Given the description of an element on the screen output the (x, y) to click on. 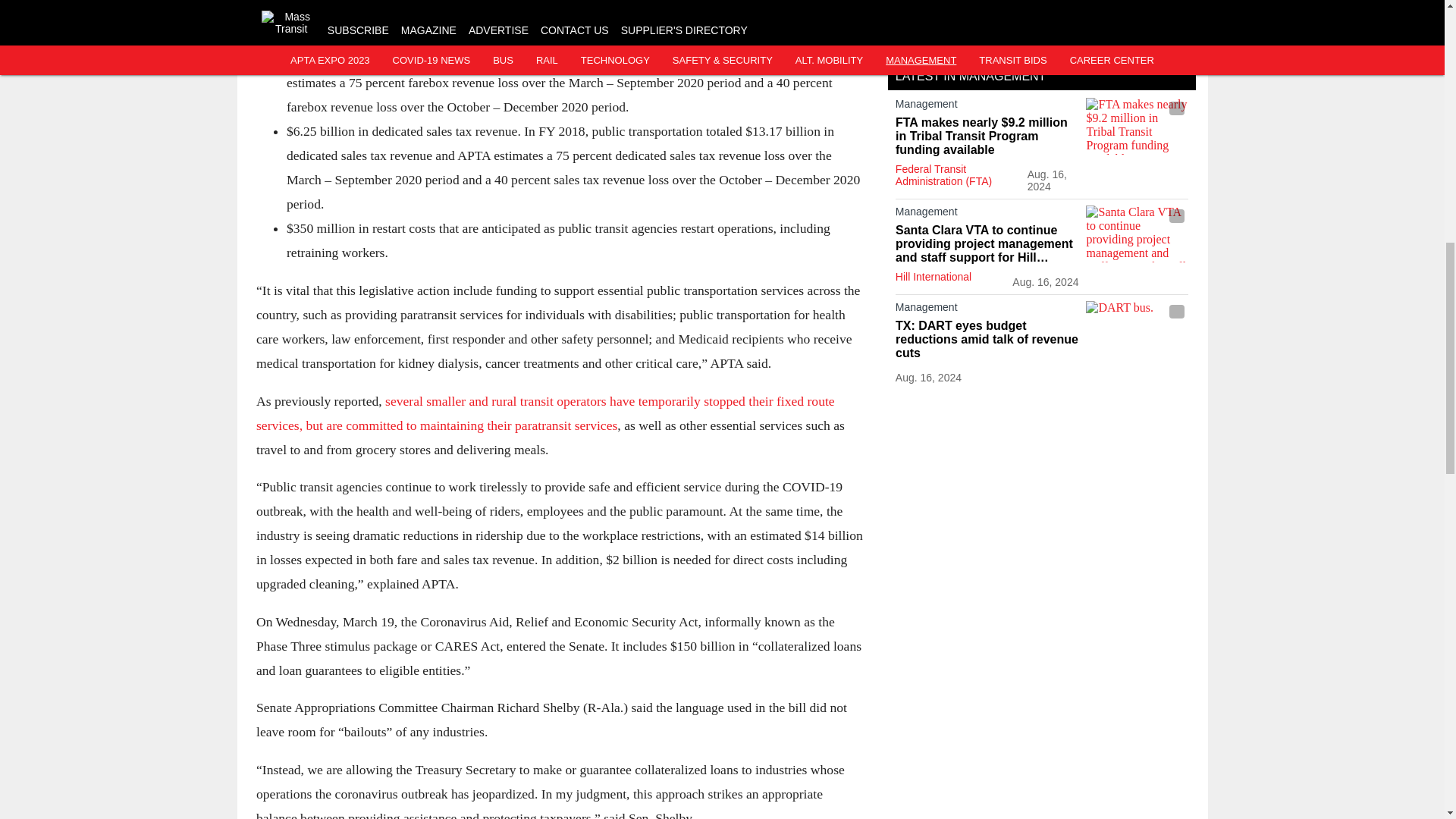
increased cleaning (653, 33)
DART bus. (1137, 329)
